Given the description of an element on the screen output the (x, y) to click on. 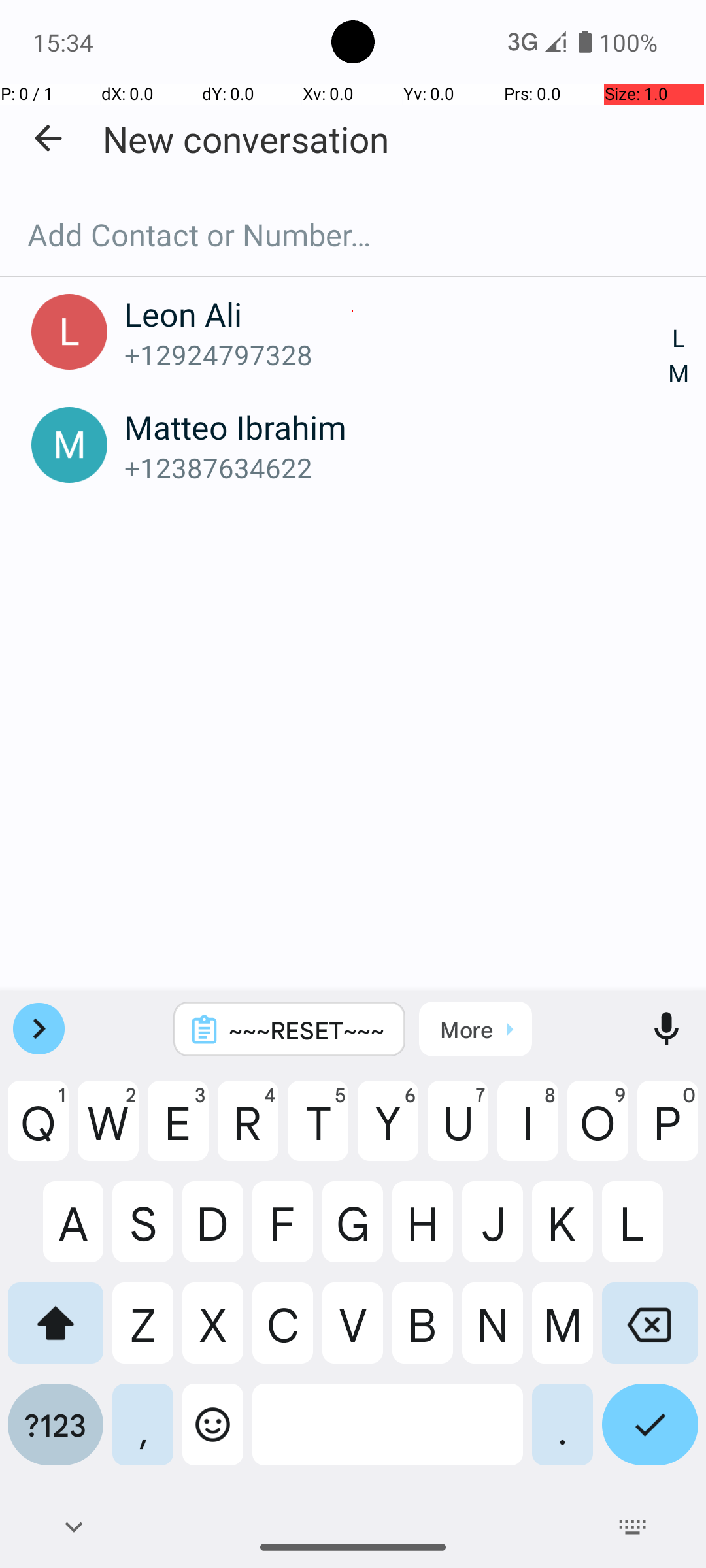
New conversation Element type: android.widget.TextView (245, 138)
Add Contact or Number… Element type: android.widget.EditText (352, 234)
L
M Element type: android.widget.TextView (678, 356)
Leon Ali Element type: android.widget.TextView (397, 313)
+12924797328 Element type: android.widget.TextView (397, 354)
Matteo Ibrahim Element type: android.widget.TextView (397, 426)
+12387634622 Element type: android.widget.TextView (397, 467)
